Given the description of an element on the screen output the (x, y) to click on. 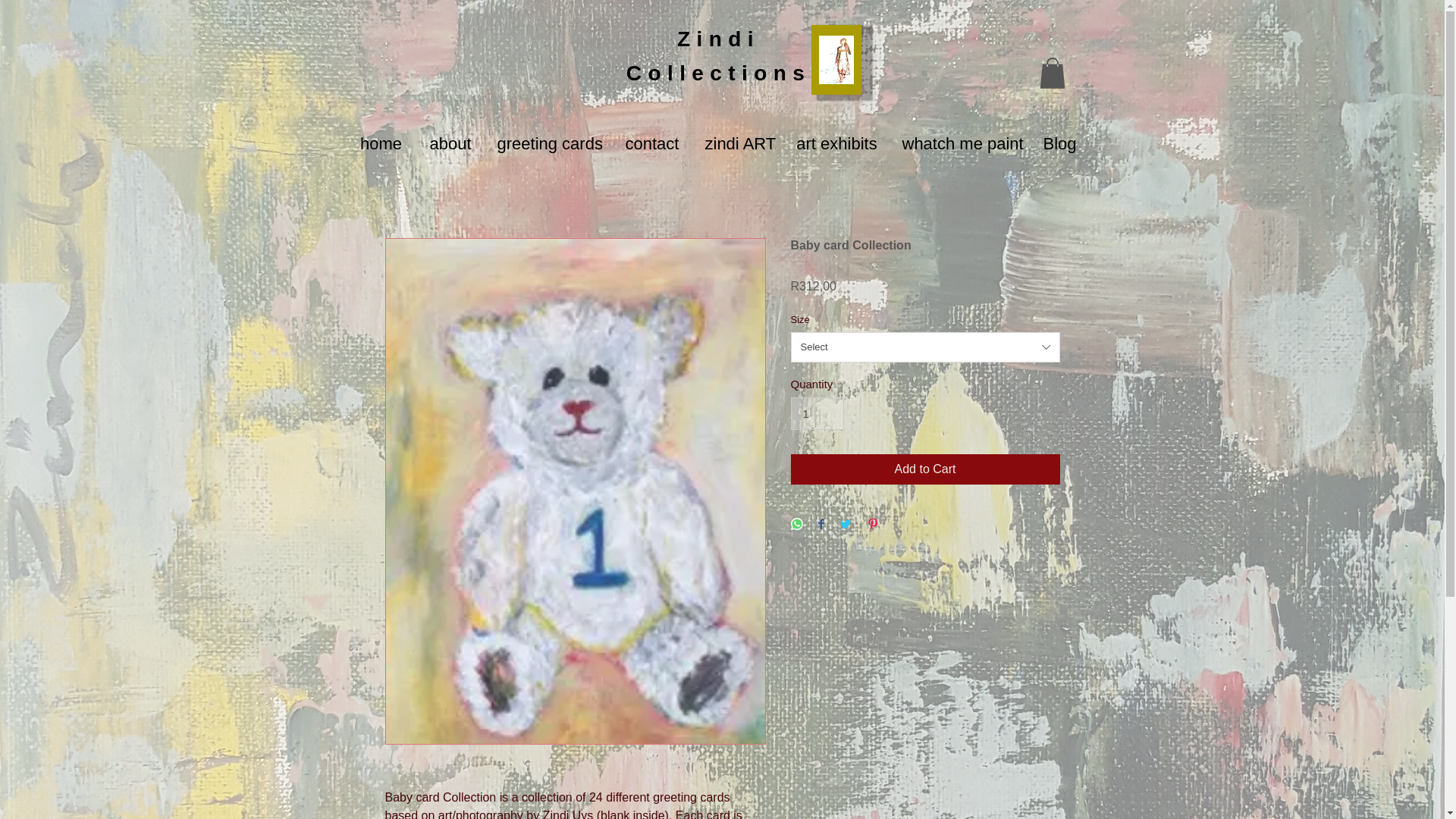
art exhibits (836, 143)
greeting cards (547, 143)
Blog (1058, 143)
whatch me paint (959, 143)
home (380, 143)
zindi ART (738, 143)
1 (817, 413)
about (449, 143)
contact (652, 143)
Select (924, 347)
Add to Cart (924, 469)
